Given the description of an element on the screen output the (x, y) to click on. 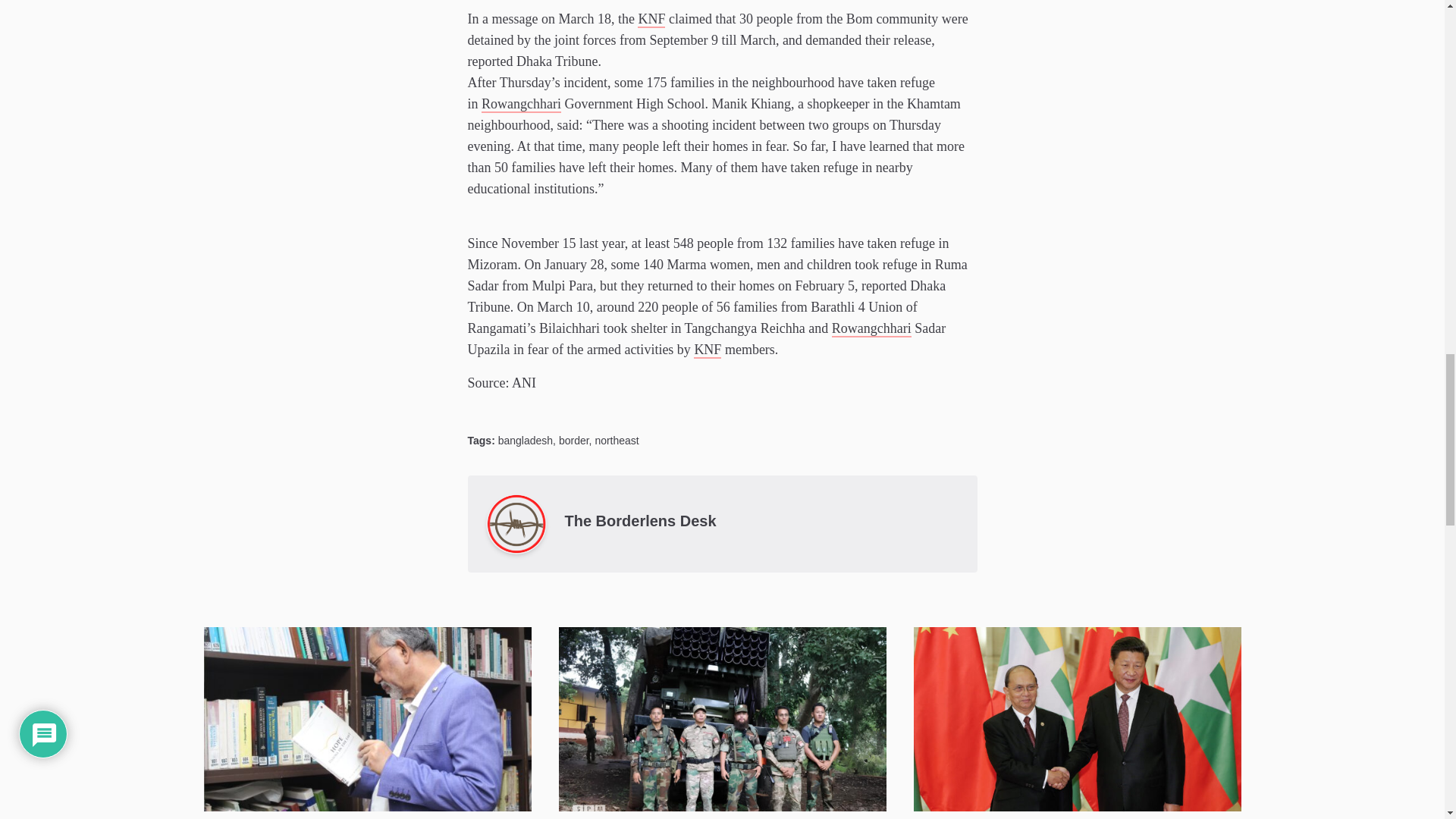
northeast (616, 439)
border (574, 439)
Rowangchhari (871, 328)
bangladesh (525, 439)
Rowangchhari (520, 103)
KNF (707, 349)
KNF (651, 18)
